Given the description of an element on the screen output the (x, y) to click on. 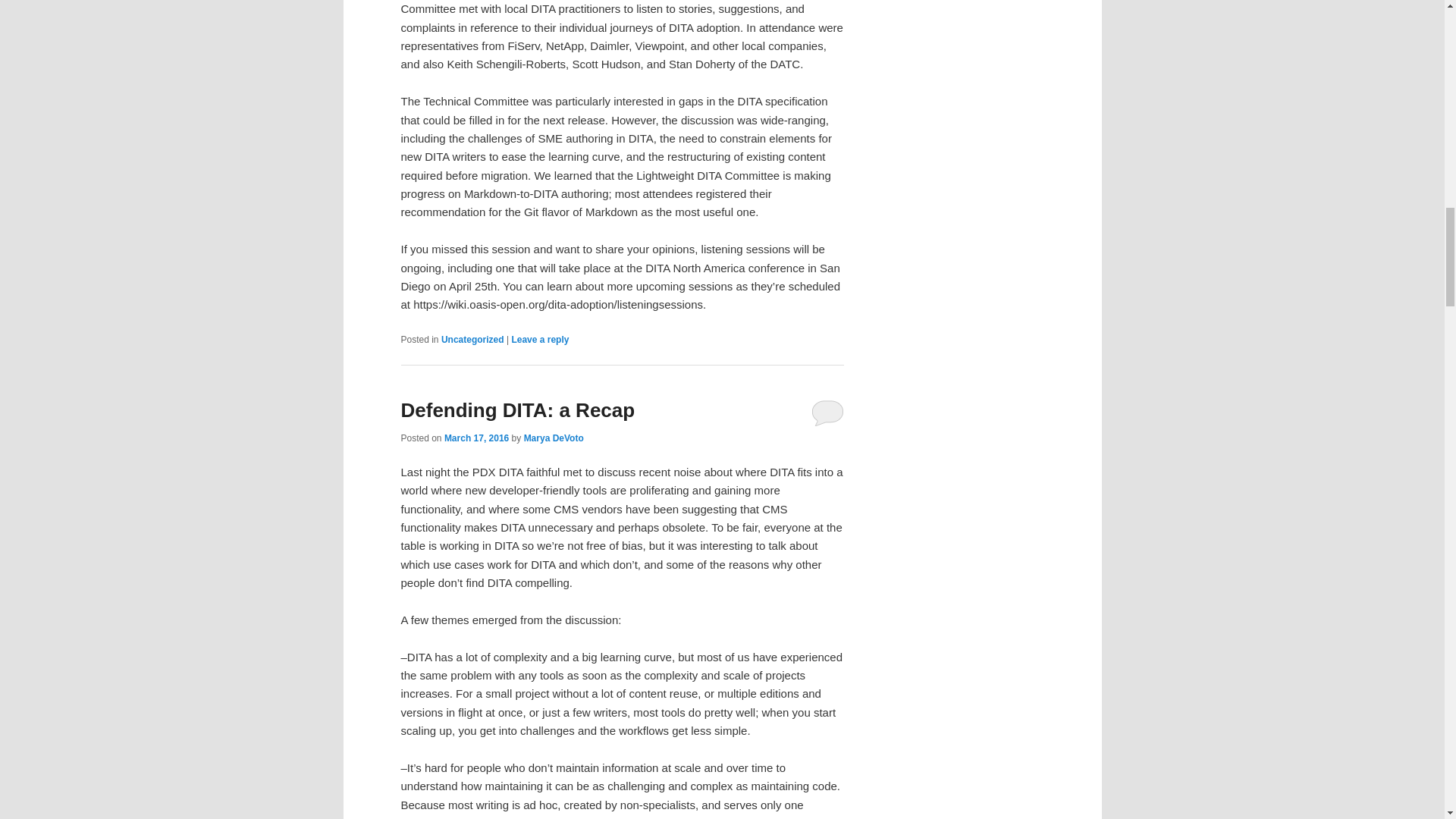
Uncategorized (472, 339)
View all posts by Marya DeVoto (553, 438)
Marya DeVoto (553, 438)
Leave a reply (540, 339)
Defending DITA: a Recap (517, 409)
3:22 pm (476, 438)
March 17, 2016 (476, 438)
